Given the description of an element on the screen output the (x, y) to click on. 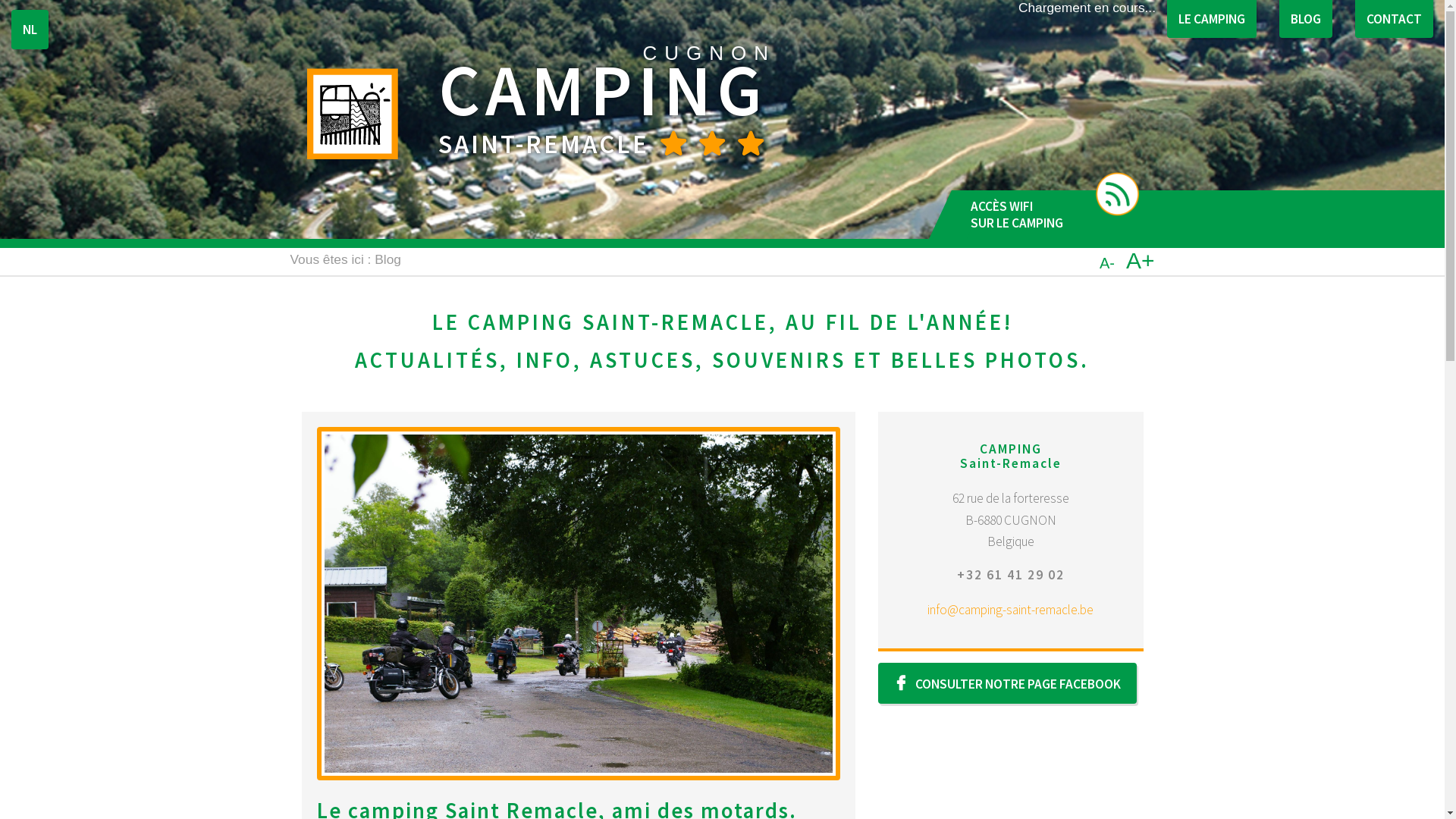
  CONSULTER NOTRE PAGE FACEBOOK   Element type: text (1007, 682)
Camping St-Remacle - Cugnon Element type: hover (352, 113)
LE CAMPING Element type: text (1211, 18)
CONTACT Element type: text (1394, 18)
CAMPING
SAINT-REMACLE Element type: text (722, 104)
Le camping Saint Remacle, ami des motards. Element type: hover (578, 602)
A- Element type: text (1106, 262)
A+ Element type: text (1134, 260)
info@camping-saint-remacle.be Element type: text (1010, 609)
BLOG Element type: text (1305, 18)
NL Element type: text (29, 29)
